Given the description of an element on the screen output the (x, y) to click on. 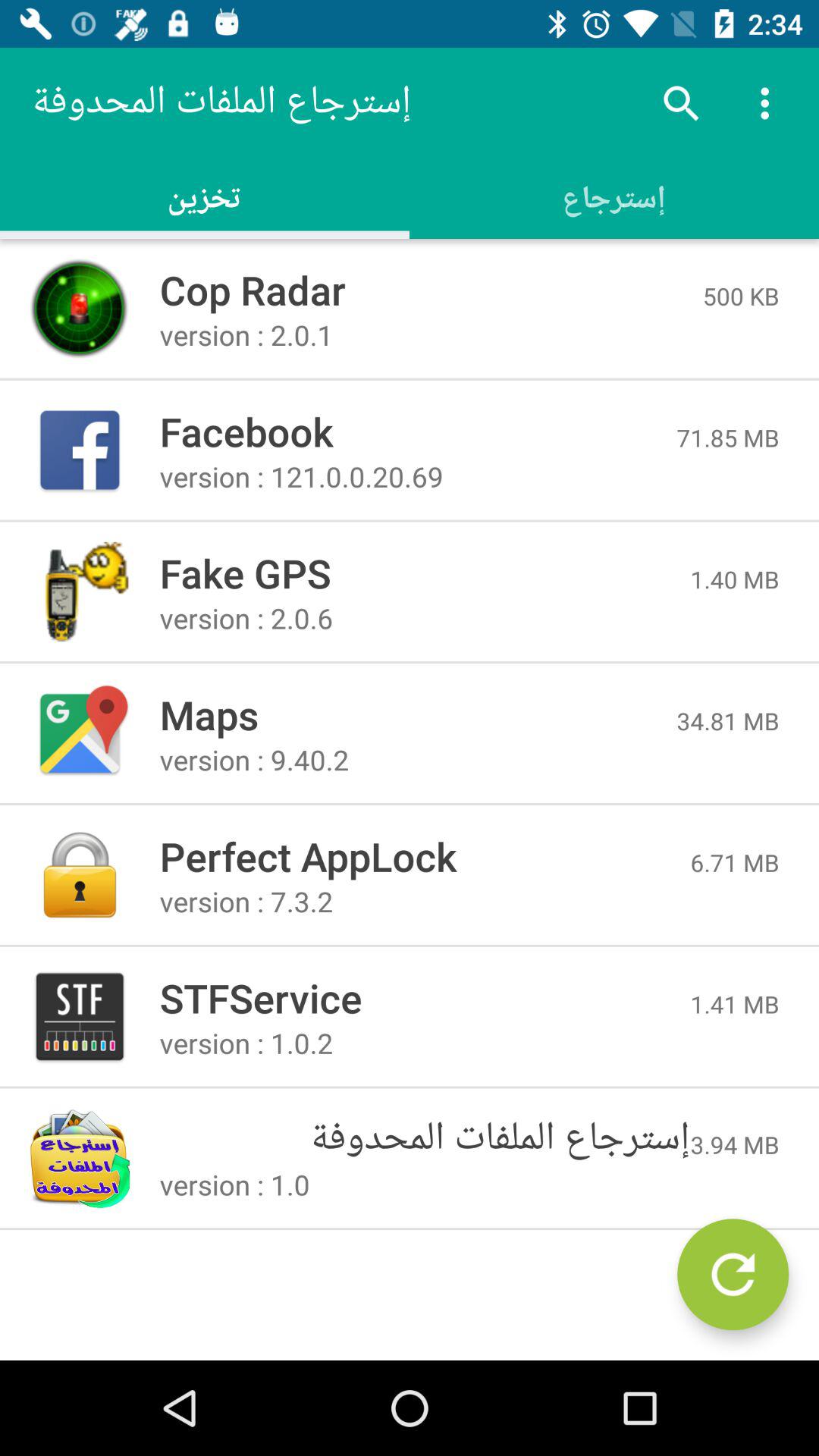
open icon next to the maps icon (727, 720)
